Given the description of an element on the screen output the (x, y) to click on. 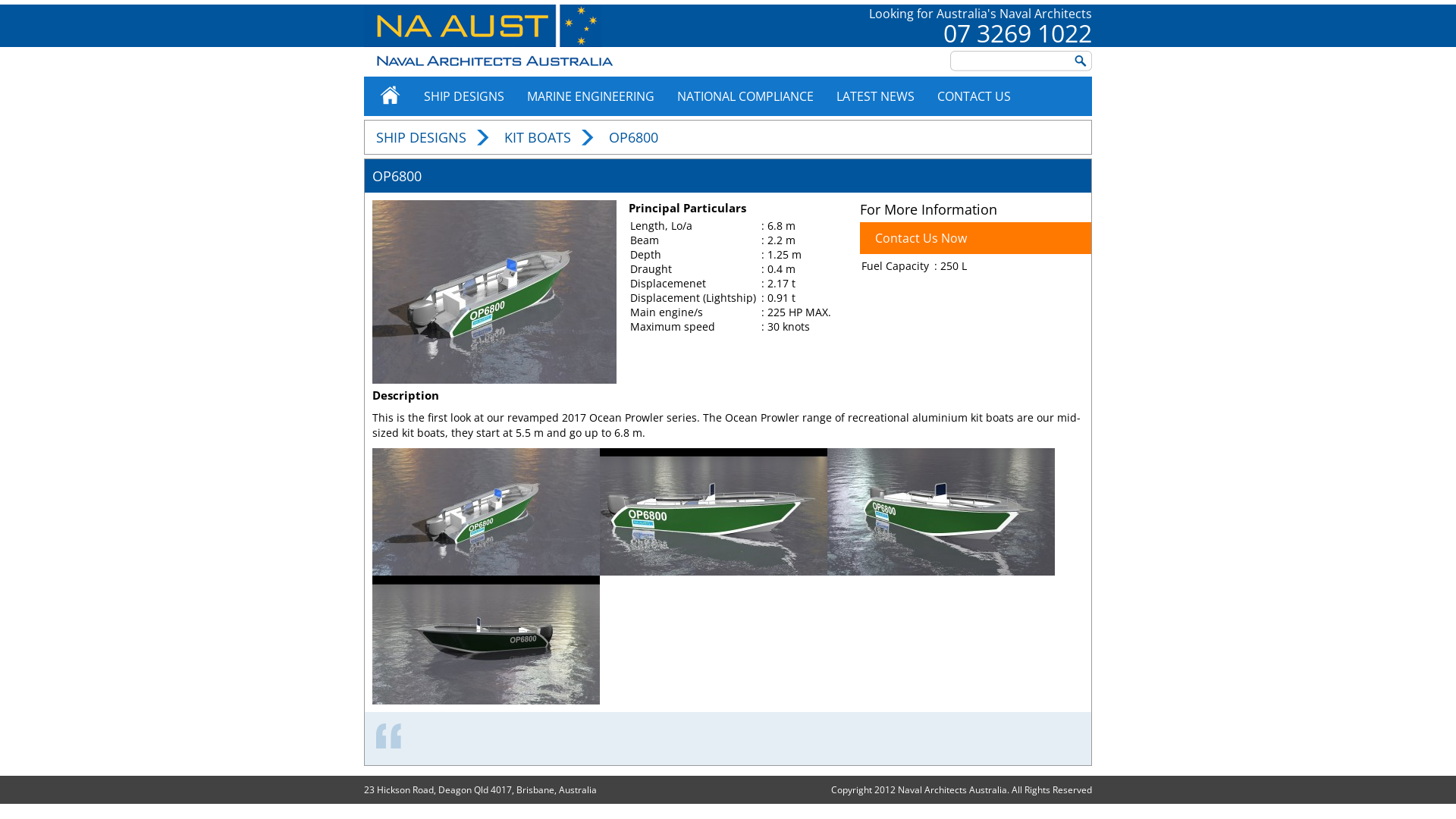
OP6800_RENDER_001 Element type: hover (940, 511)
LATEST NEWS Element type: text (875, 96)
SHIP DESIGNS Element type: text (463, 96)
KIT BOATS Element type: text (537, 137)
NATIONAL COMPLIANCE Element type: text (745, 96)
OP6800_RENDER_003 Element type: hover (485, 511)
OP6800_RENDER_003 Element type: hover (494, 291)
CONTACT US Element type: text (973, 96)
OP6800_RENDER_005 Element type: hover (485, 639)
OP6800_RENDER_002 Element type: hover (713, 511)
SHIP DESIGNS Element type: text (421, 137)
MARINE ENGINEERING Element type: text (590, 96)
Contact Us Now Element type: text (975, 238)
